Given the description of an element on the screen output the (x, y) to click on. 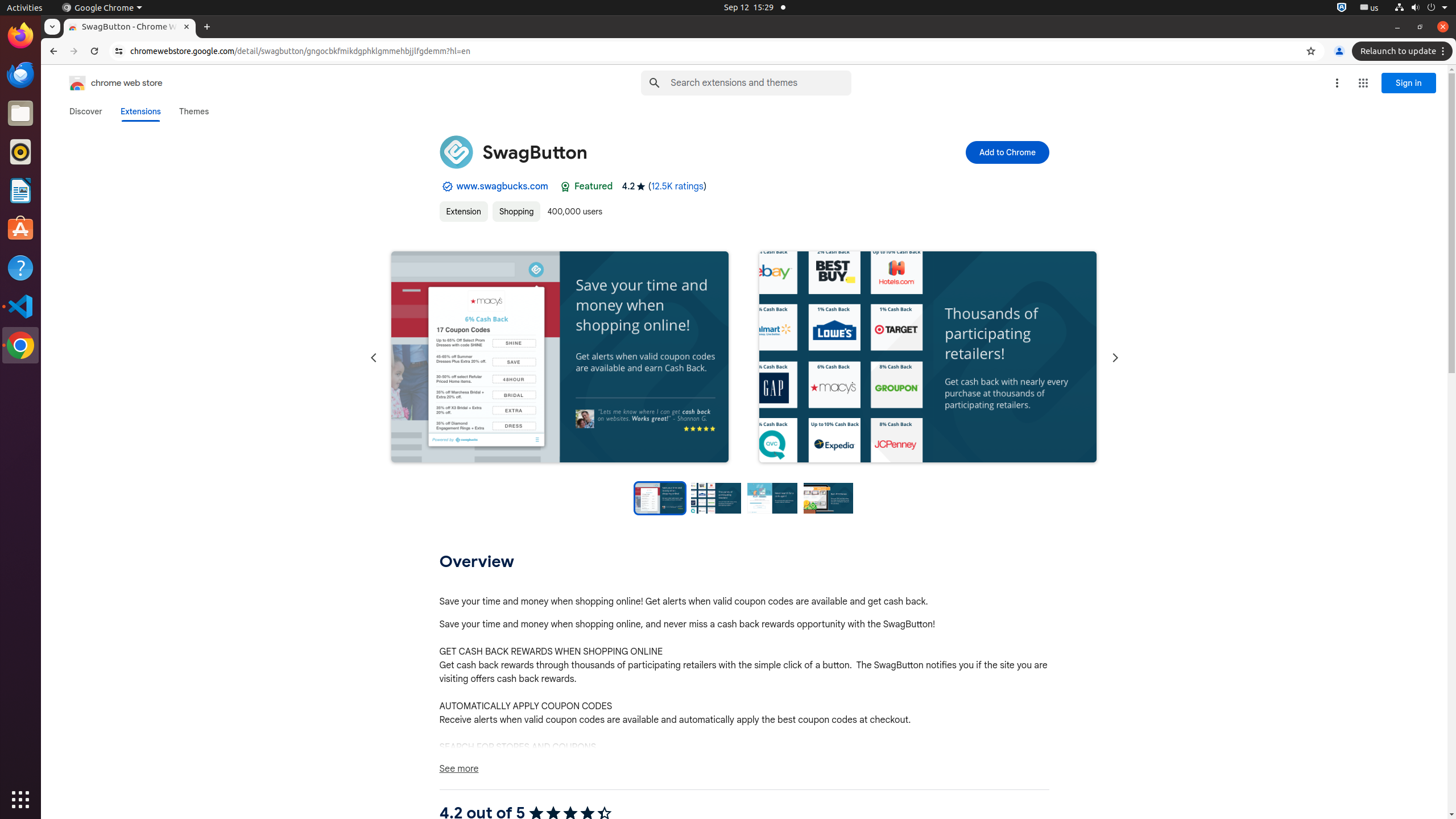
:1.21/StatusNotifierItem Element type: menu (1369, 7)
Chrome Web Store logo chrome web store Element type: link (103, 82)
:1.72/StatusNotifierItem Element type: menu (1341, 7)
Preview slide 4 Element type: push-button (828, 498)
Search input Element type: combo-box (760, 82)
